Given the description of an element on the screen output the (x, y) to click on. 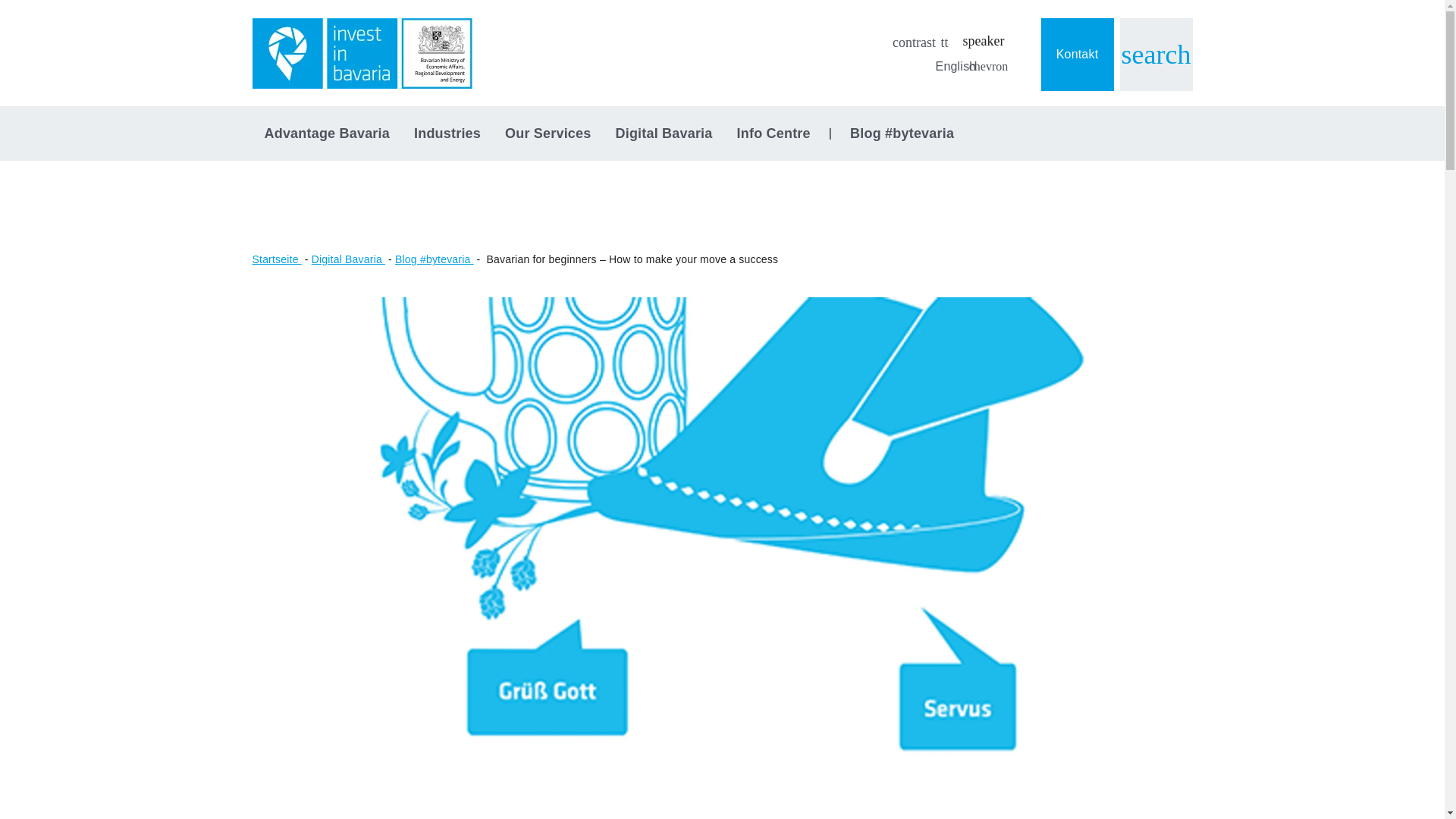
Industries (447, 133)
Digital Bavaria (348, 259)
search (1155, 54)
contrast (914, 42)
Info Centre (773, 133)
tt (944, 42)
Startseite (276, 259)
chevron (987, 66)
Digital Bavaria (662, 133)
Our Services (547, 133)
speaker (983, 41)
Advantage Bavaria (326, 133)
Kontakt (1077, 54)
